Given the description of an element on the screen output the (x, y) to click on. 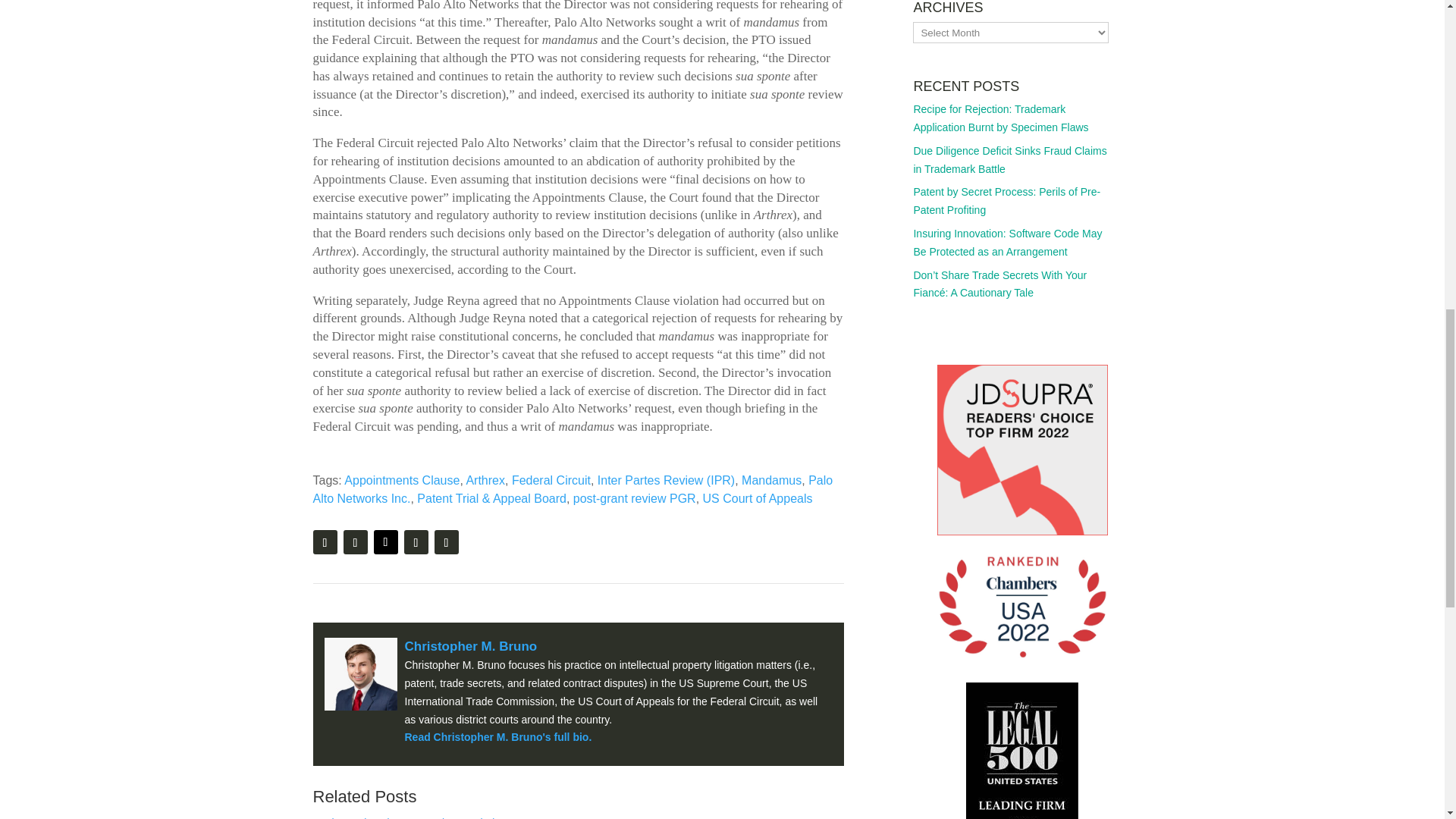
E-Mail (354, 541)
Share on LinkedIn (445, 541)
Share on Facebook (415, 541)
Print (324, 541)
Follow on X (384, 541)
